Given the description of an element on the screen output the (x, y) to click on. 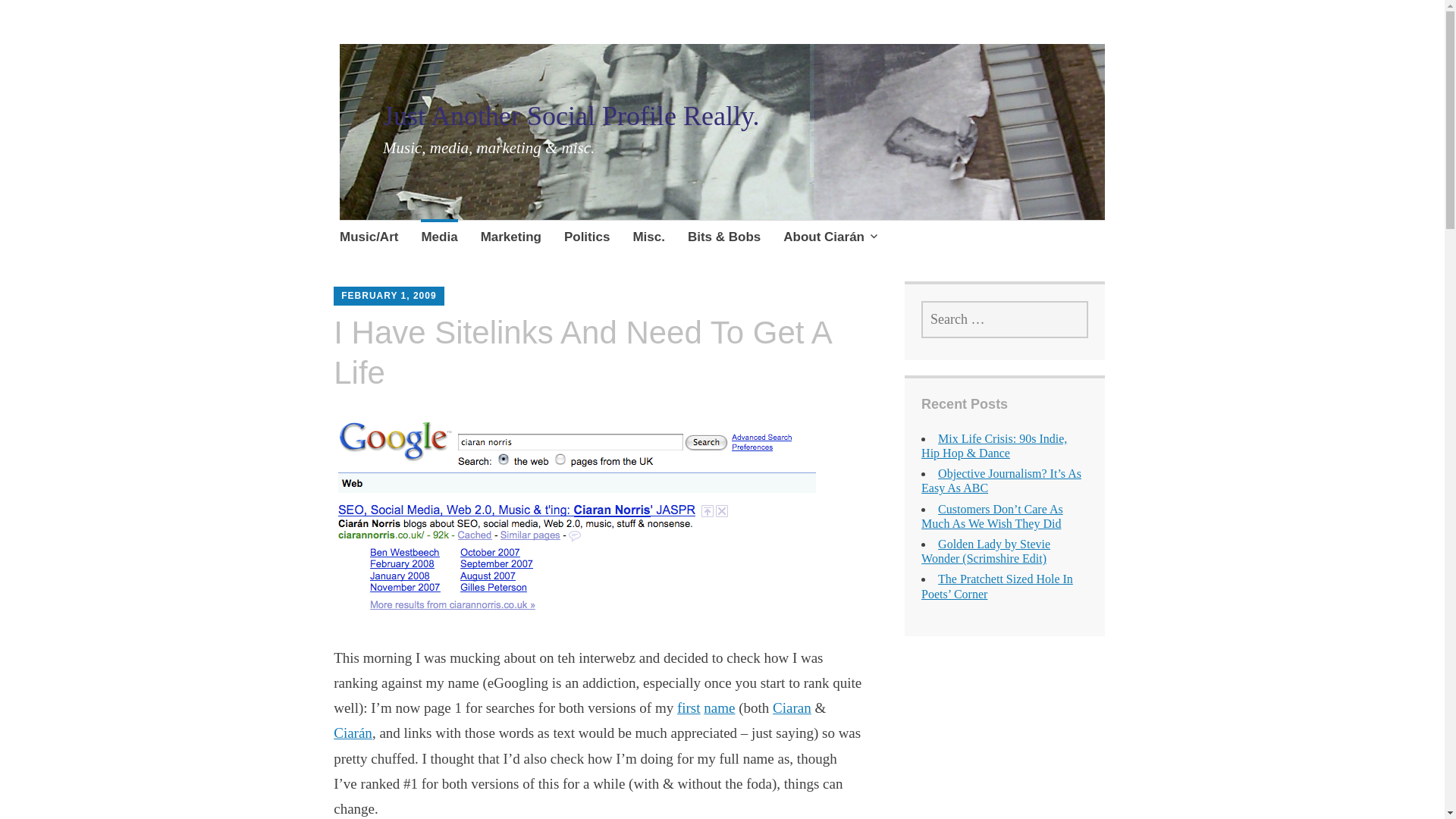
first (688, 707)
FEBRUARY 1, 2009 (387, 295)
Ciaran (791, 707)
Just Another Social Profile Really. (571, 115)
Politics (587, 238)
Media (438, 238)
Marketing (510, 238)
name (719, 707)
